Given the description of an element on the screen output the (x, y) to click on. 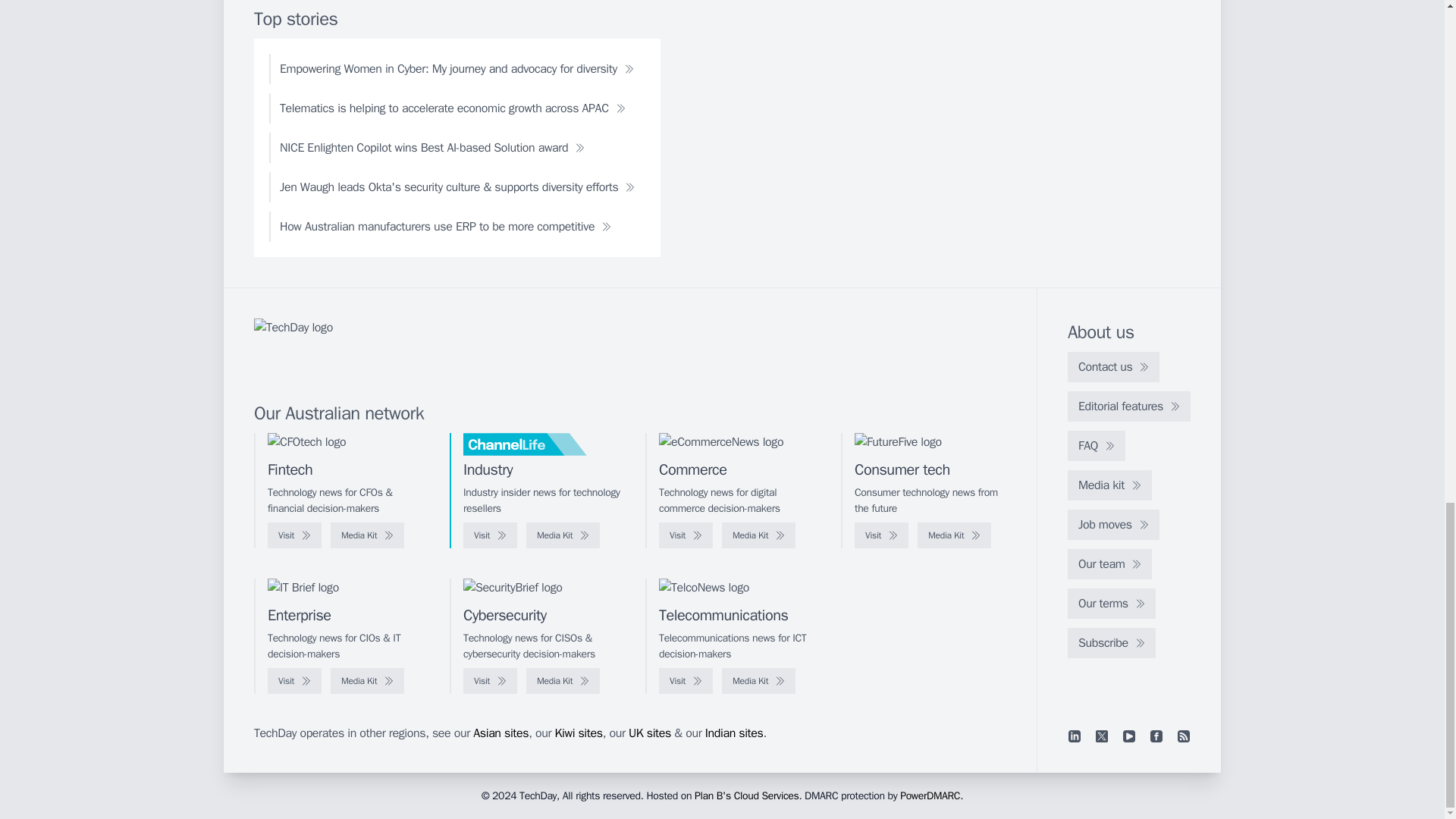
Visit (294, 534)
How Australian manufacturers use ERP to be more competitive (445, 226)
Media Kit (562, 534)
Media Kit (367, 534)
Visit (686, 534)
Visit (489, 534)
NICE Enlighten Copilot wins Best AI-based Solution award (432, 147)
Media Kit (758, 534)
Media Kit (954, 534)
